Given the description of an element on the screen output the (x, y) to click on. 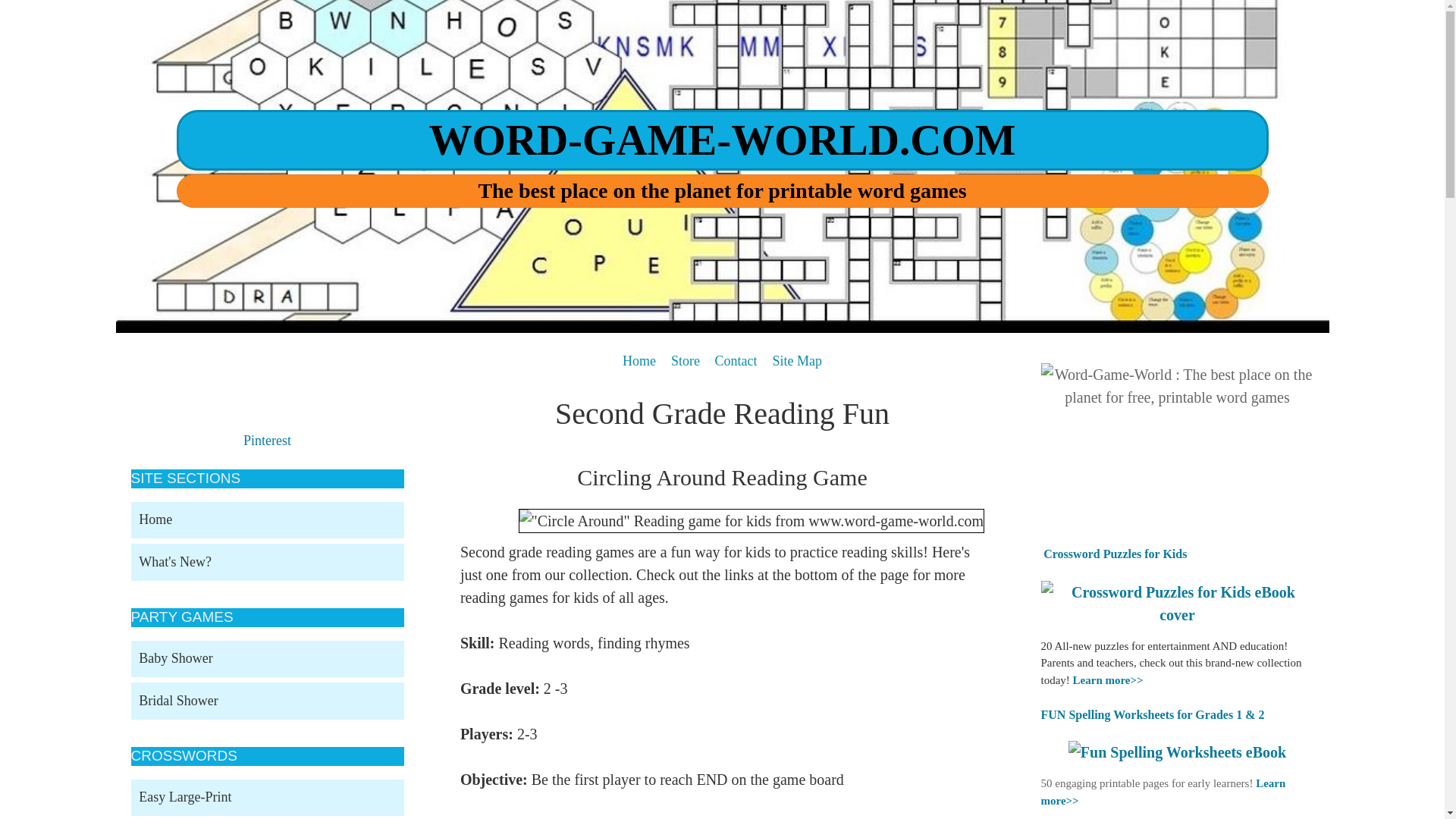
Easy Large-Print (267, 797)
Pinterest (267, 440)
Fun Spelling Worksheets eBook (1176, 752)
Contact (735, 360)
Go to Crossword Puzzles for Kids eBook of 20 New Puzzles! (1177, 614)
Site Map (796, 360)
Baby Shower (267, 659)
Home (639, 360)
Crossword Puzzles for Kids eBook cover (1177, 603)
